Given the description of an element on the screen output the (x, y) to click on. 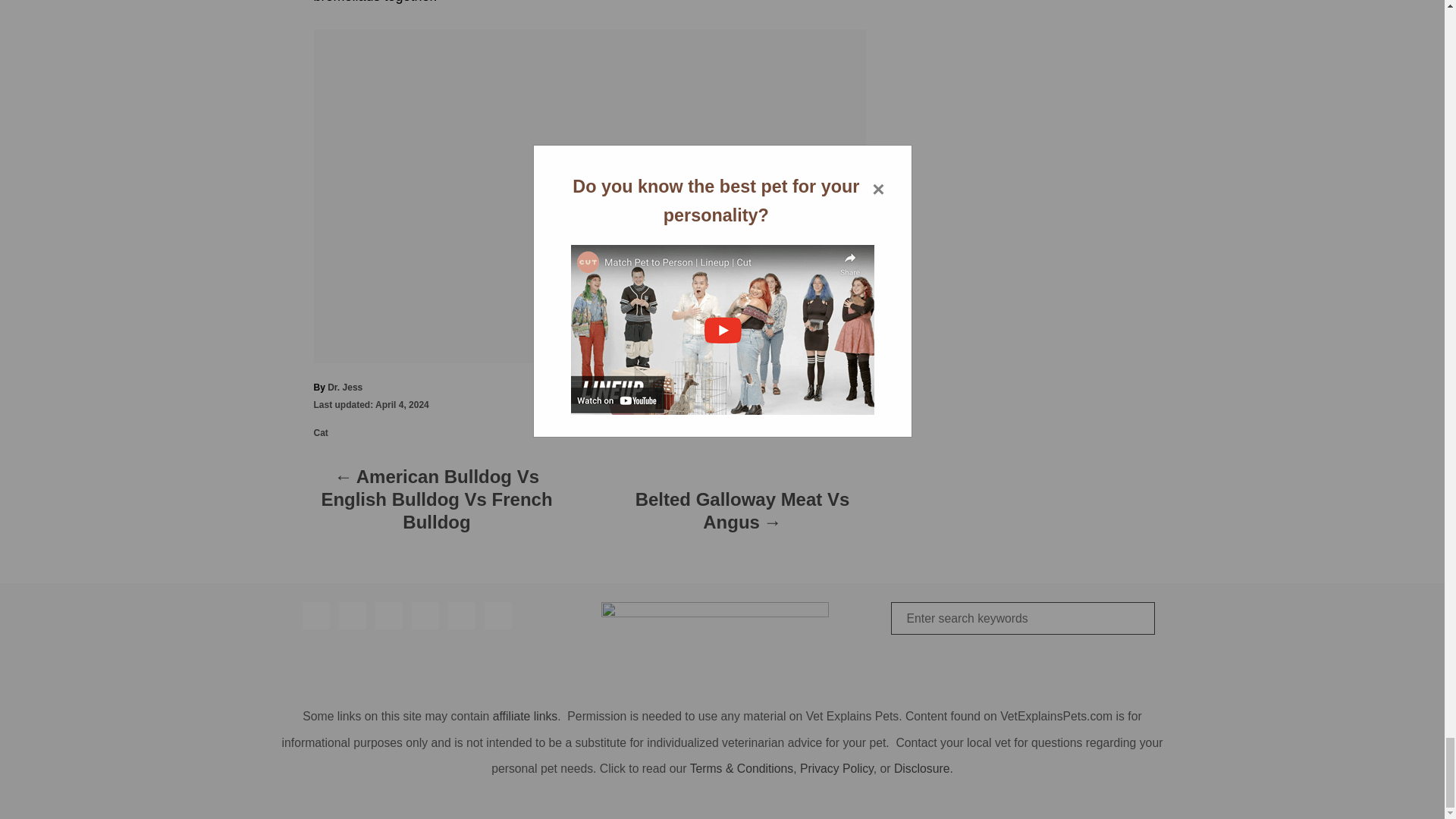
Dr. Jess (344, 387)
Search for: (1021, 617)
Belted Galloway Meat Vs Angus (741, 514)
American Bulldog Vs English Bulldog Vs French Bulldog (437, 503)
Cat (321, 432)
